Given the description of an element on the screen output the (x, y) to click on. 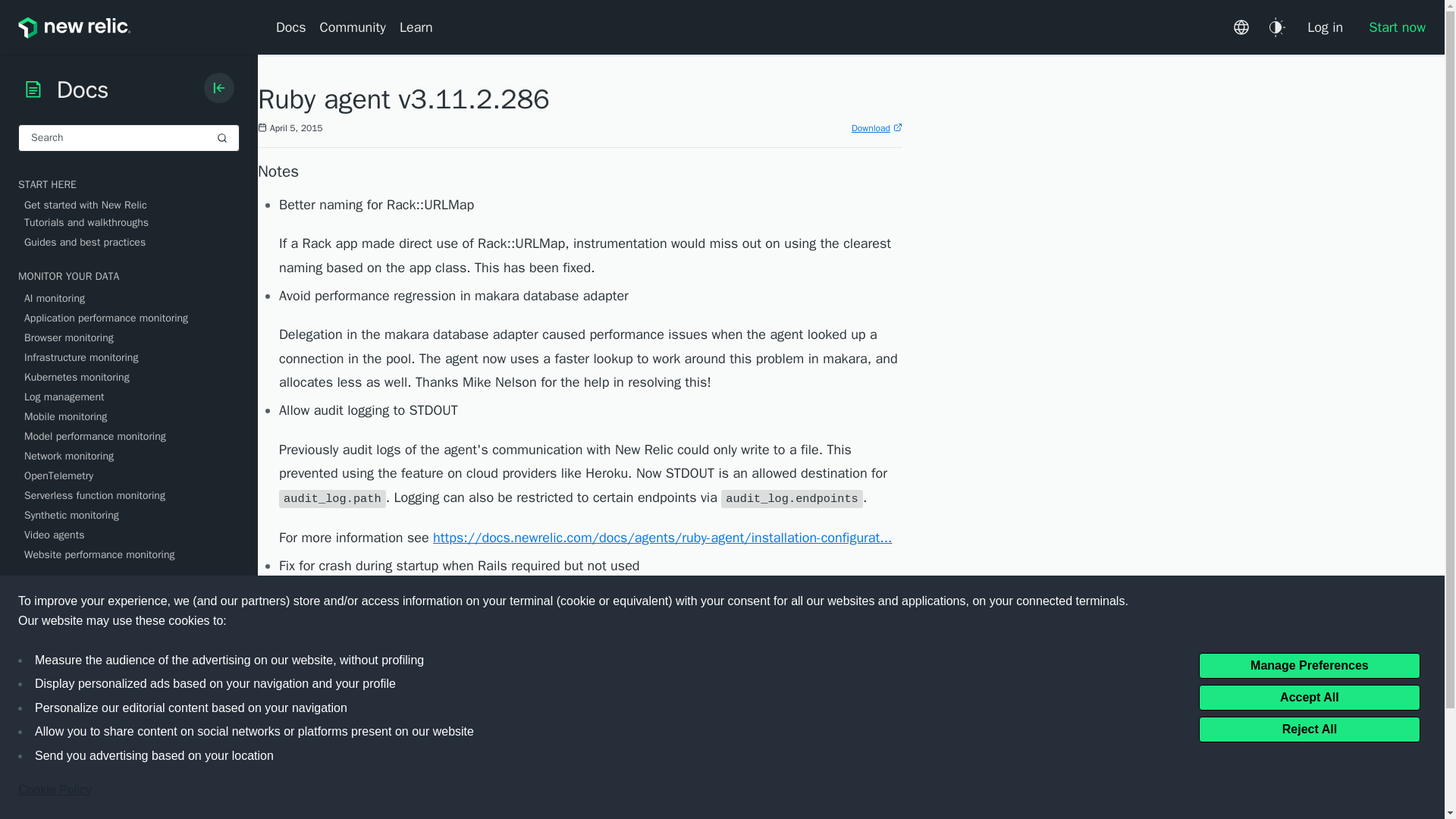
Learn (416, 27)
Docs (294, 27)
Reject All (1309, 728)
Accept All (1309, 696)
Community (353, 27)
Cookie Policy (54, 789)
Start now (1390, 26)
Log in (1324, 26)
Get started with New Relic (131, 204)
Manage Preferences (1309, 664)
